Given the description of an element on the screen output the (x, y) to click on. 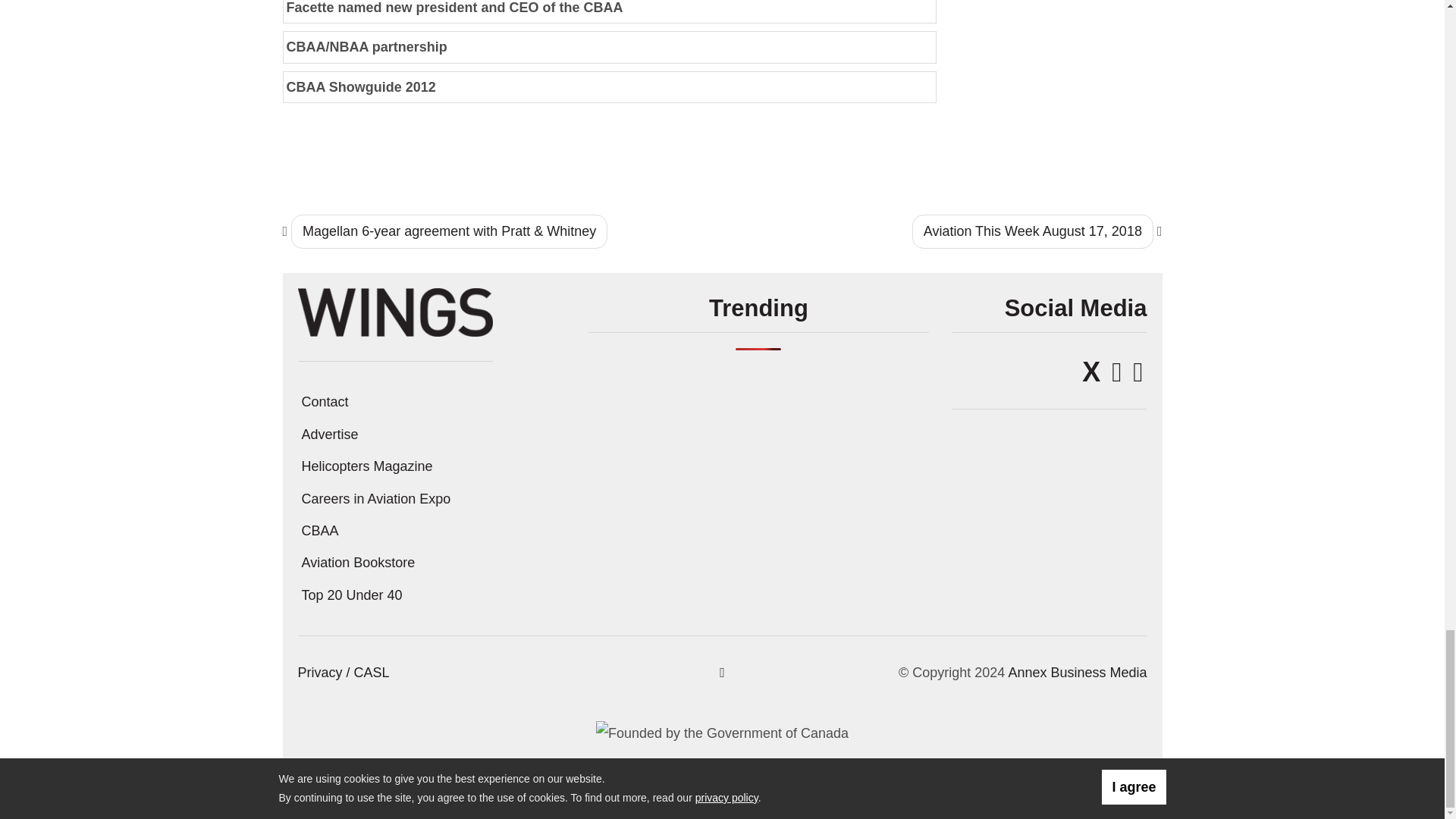
Wings Magazine (395, 311)
Annex Business Media (1077, 672)
